Given the description of an element on the screen output the (x, y) to click on. 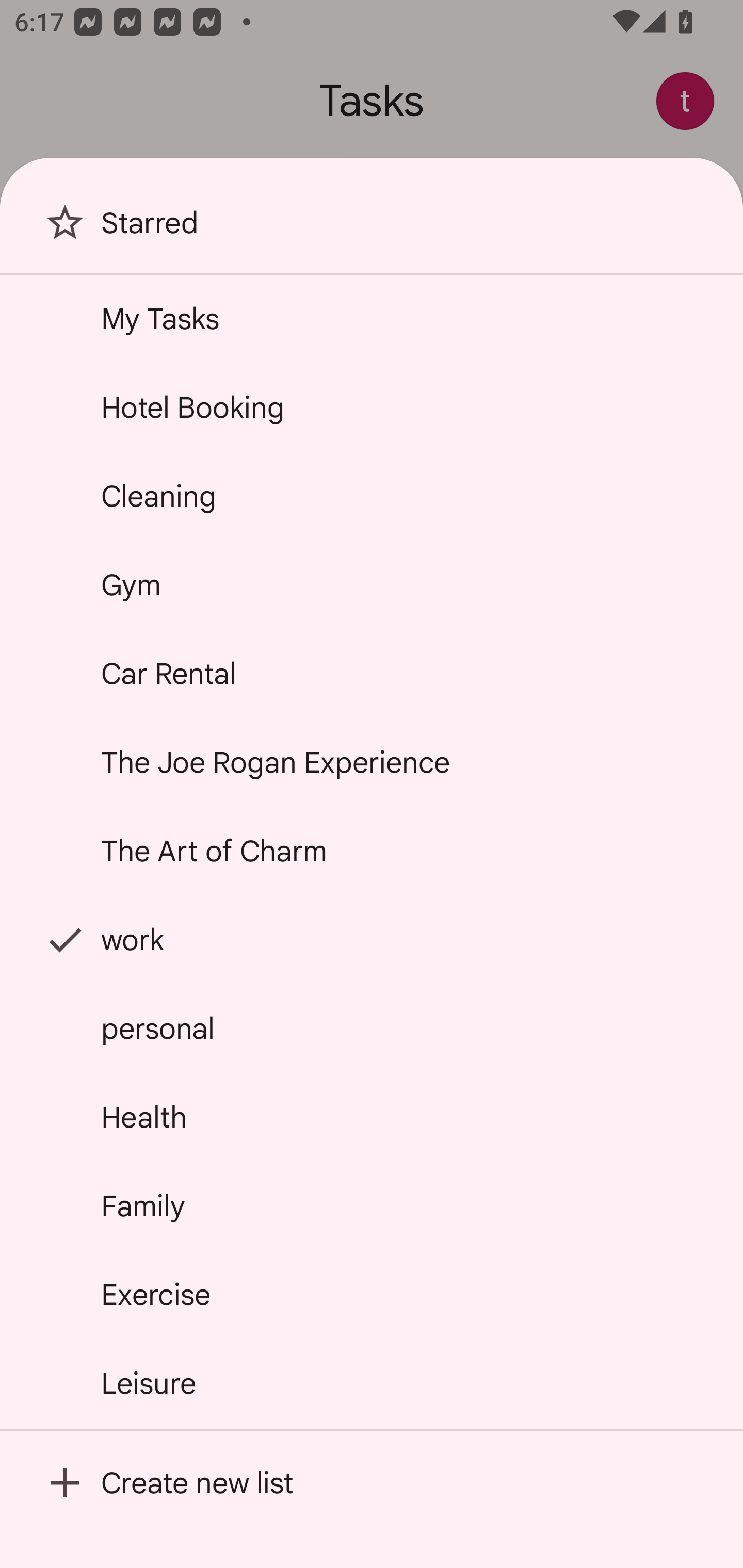
Starred (371, 229)
My Tasks (371, 318)
Hotel Booking (371, 407)
Cleaning (371, 496)
Gym (371, 584)
Car Rental (371, 673)
The Joe Rogan Experience (371, 762)
The Art of Charm (371, 850)
work (371, 939)
personal (371, 1028)
Health (371, 1117)
Family (371, 1205)
Exercise (371, 1294)
Leisure (371, 1383)
Create new list (371, 1482)
